Given the description of an element on the screen output the (x, y) to click on. 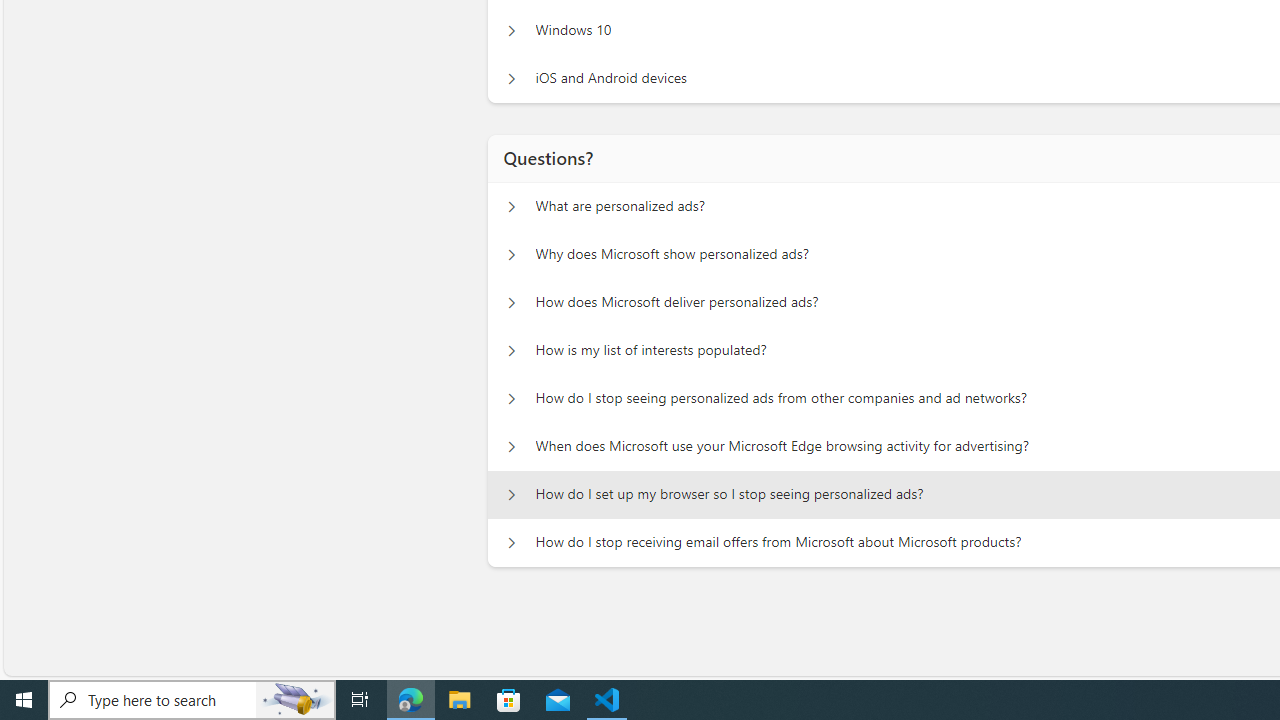
Manage personalized ads on your device Windows 10 (511, 30)
Questions? What are personalized ads? (511, 206)
Questions? Why does Microsoft show personalized ads? (511, 255)
Questions? How does Microsoft deliver personalized ads? (511, 302)
Questions? How is my list of interests populated? (511, 350)
